Given the description of an element on the screen output the (x, y) to click on. 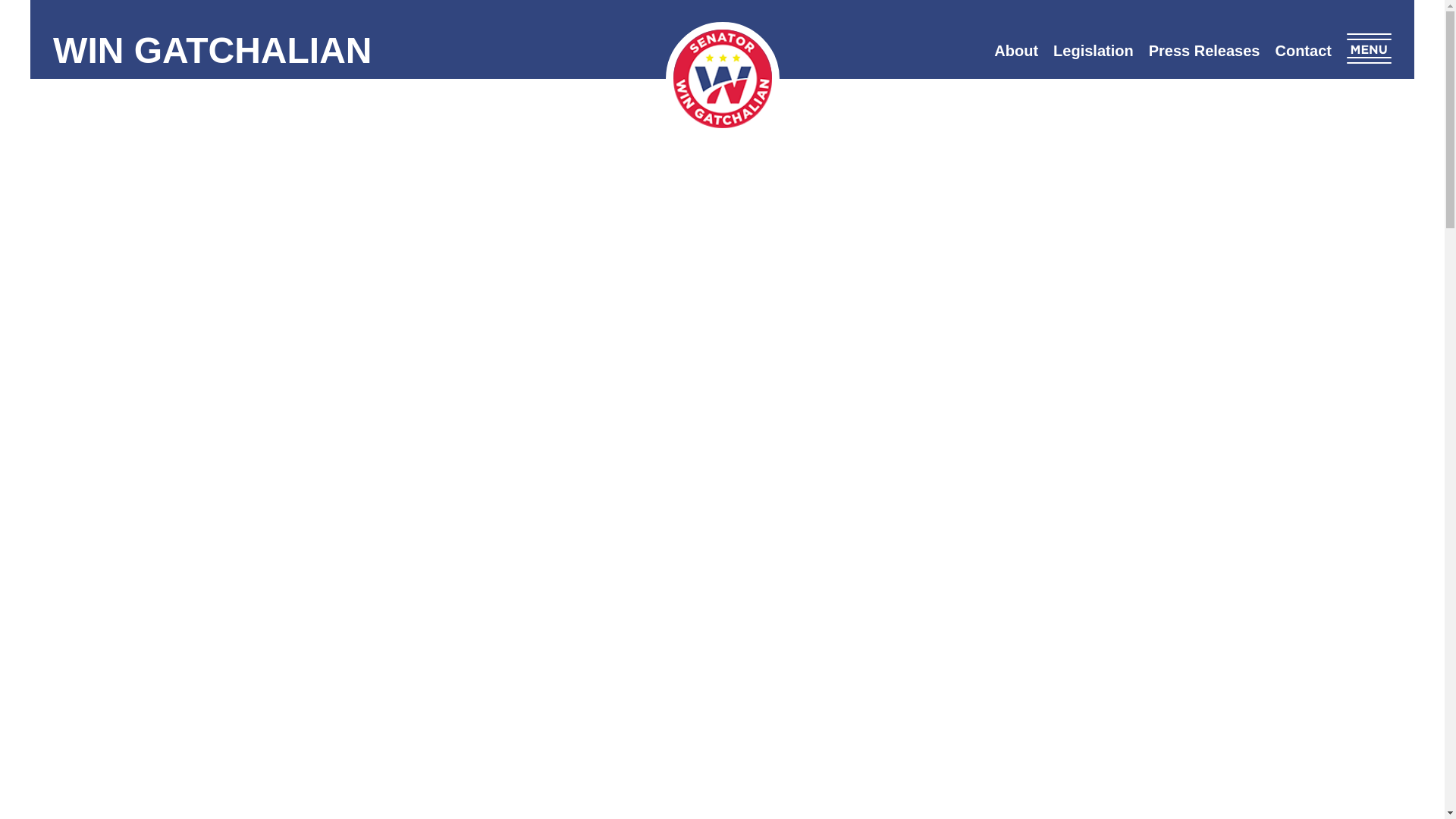
Contact (1302, 50)
About (1016, 50)
Legislation (1093, 50)
Press Releases (1204, 50)
